Given the description of an element on the screen output the (x, y) to click on. 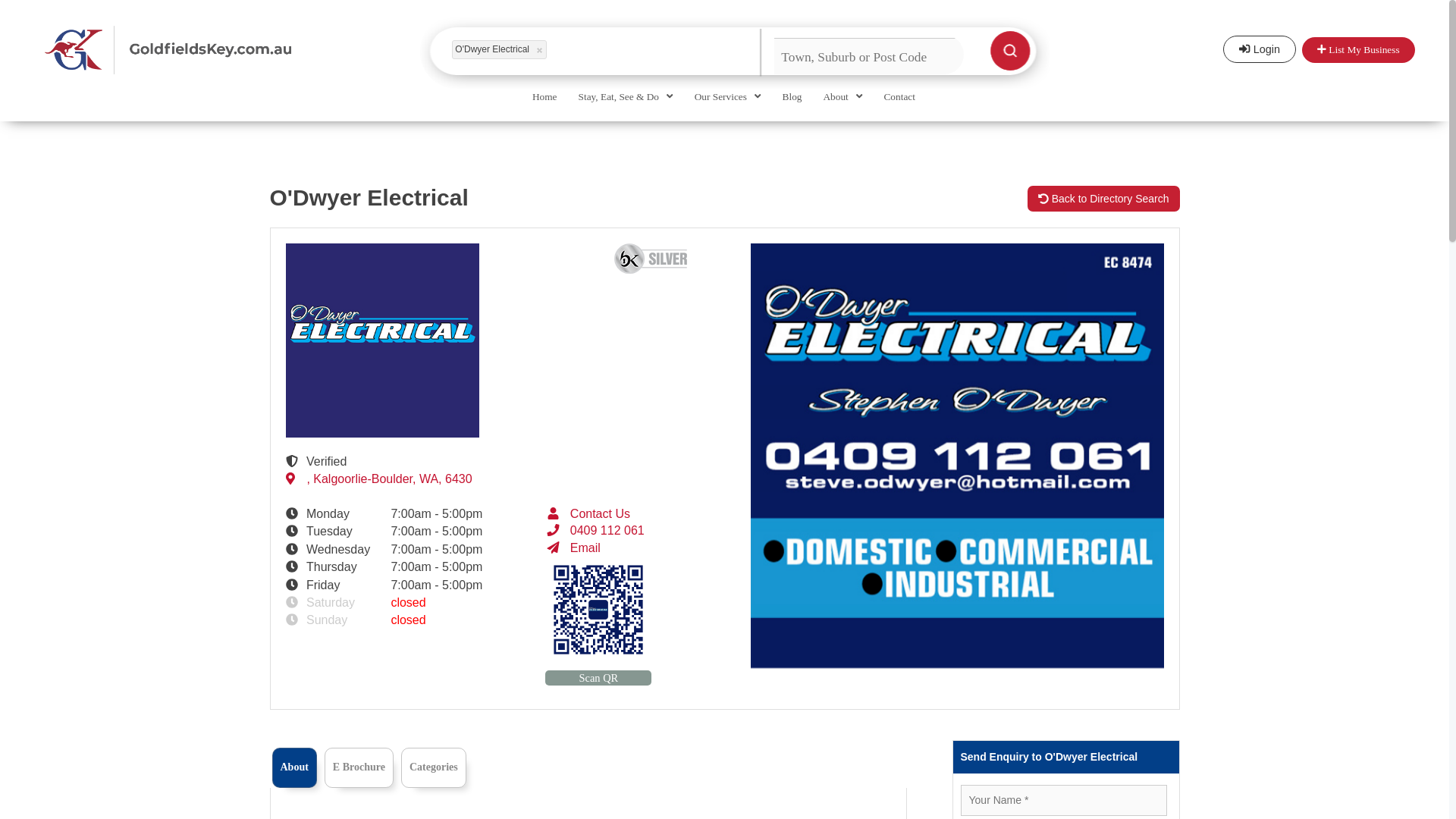
Login (1259, 49)
Verified (293, 460)
List My Business (1357, 49)
Home (544, 107)
Login (1259, 49)
Live Local, Enjoy Local, Buy Local (220, 49)
Home (544, 107)
Add your business. It's FREE! (1357, 49)
